Given the description of an element on the screen output the (x, y) to click on. 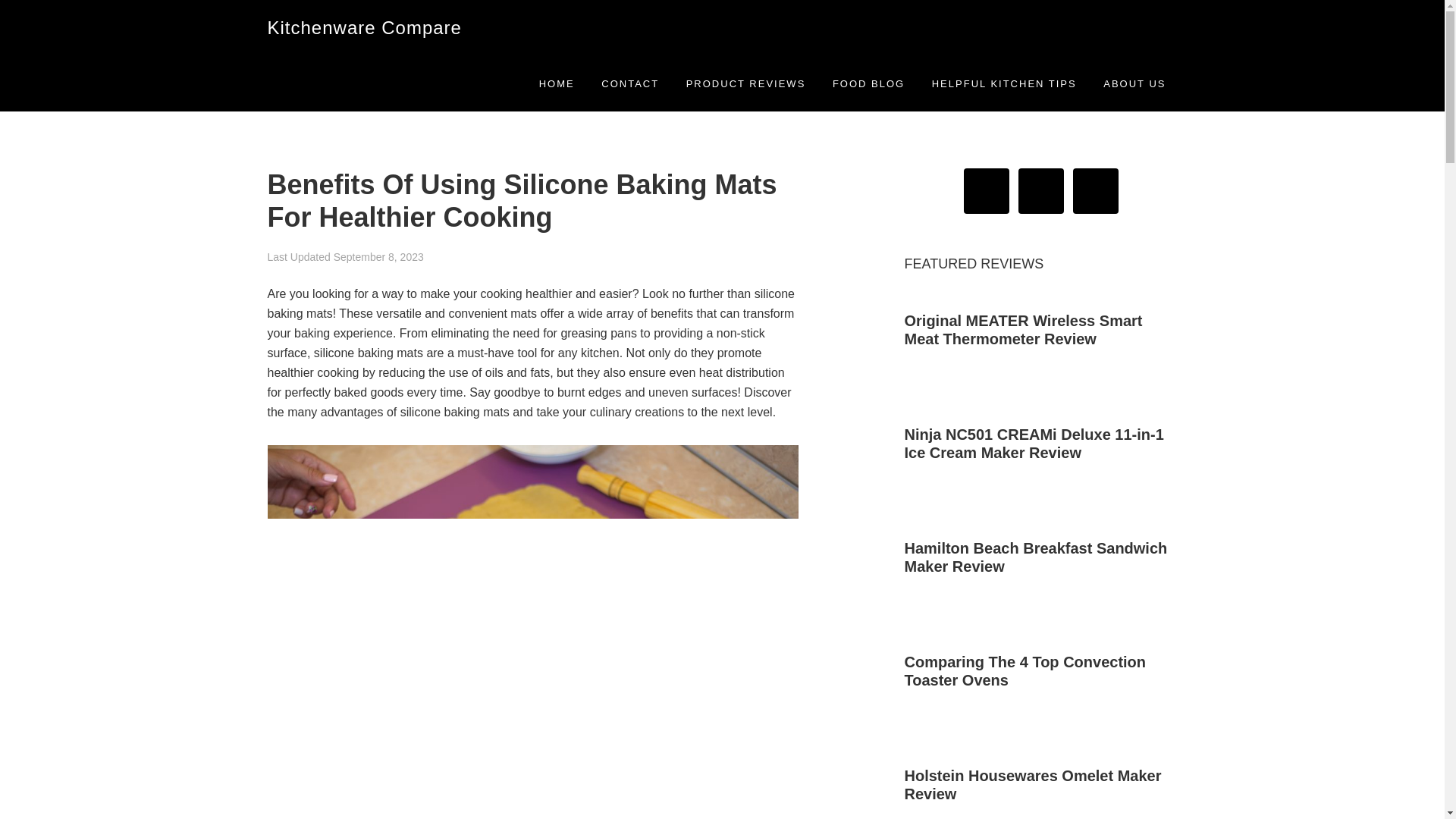
Hamilton Beach Breakfast Sandwich Maker Review (1035, 556)
ABOUT US (1134, 83)
PRODUCT REVIEWS (745, 83)
CONTACT (629, 83)
Original MEATER Wireless Smart Meat Thermometer Review (1022, 329)
HELPFUL KITCHEN TIPS (1003, 83)
FOOD BLOG (868, 83)
Ninja NC501 CREAMi Deluxe 11-in-1 Ice Cream Maker Review (1033, 443)
Kitchenware Compare (363, 27)
HOME (556, 83)
